Given the description of an element on the screen output the (x, y) to click on. 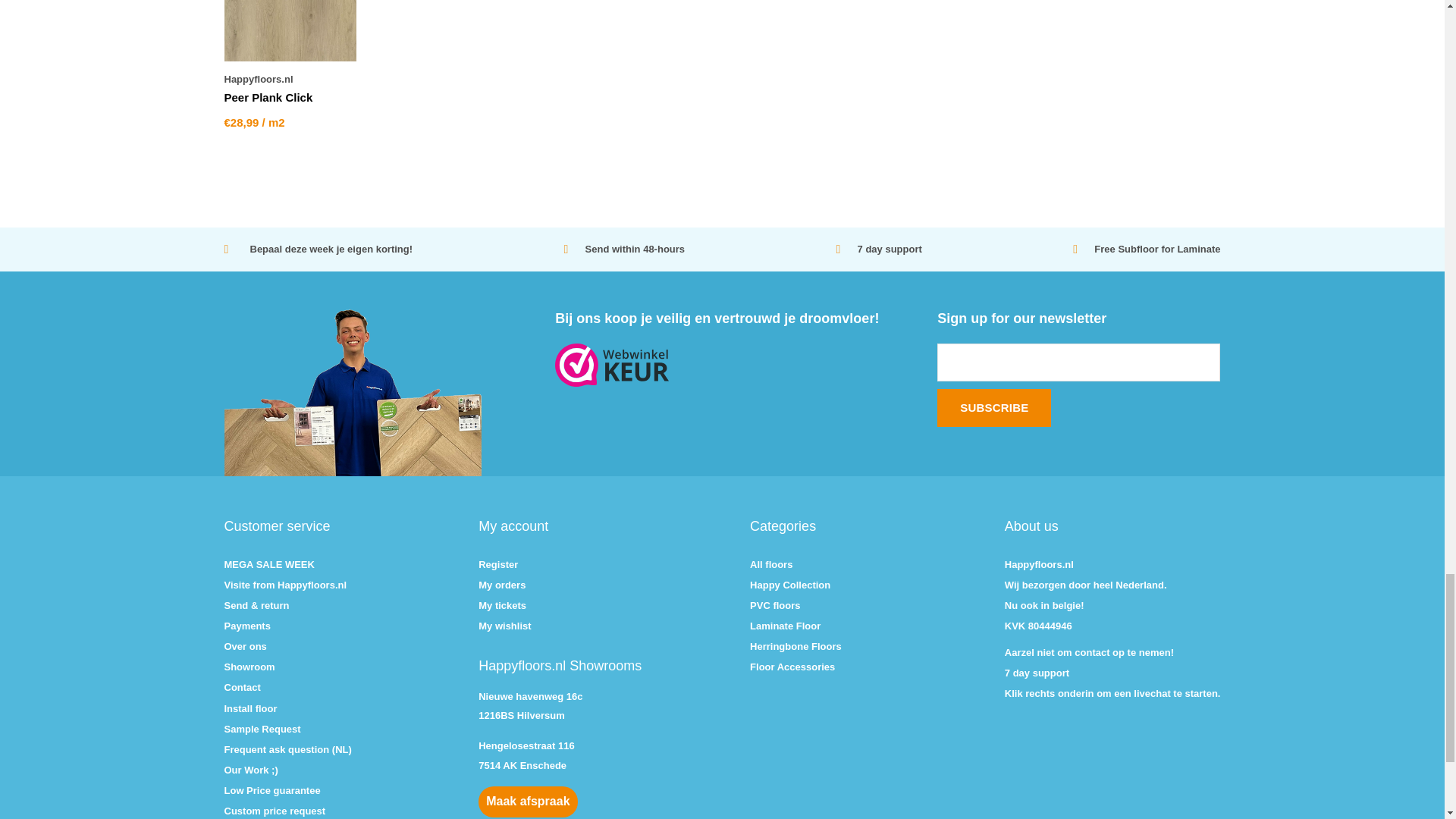
My wishlist (505, 625)
My orders (502, 584)
My tickets (502, 604)
Webwinkelkeur merk Happyfloors.nl (721, 364)
Register (498, 564)
